Given the description of an element on the screen output the (x, y) to click on. 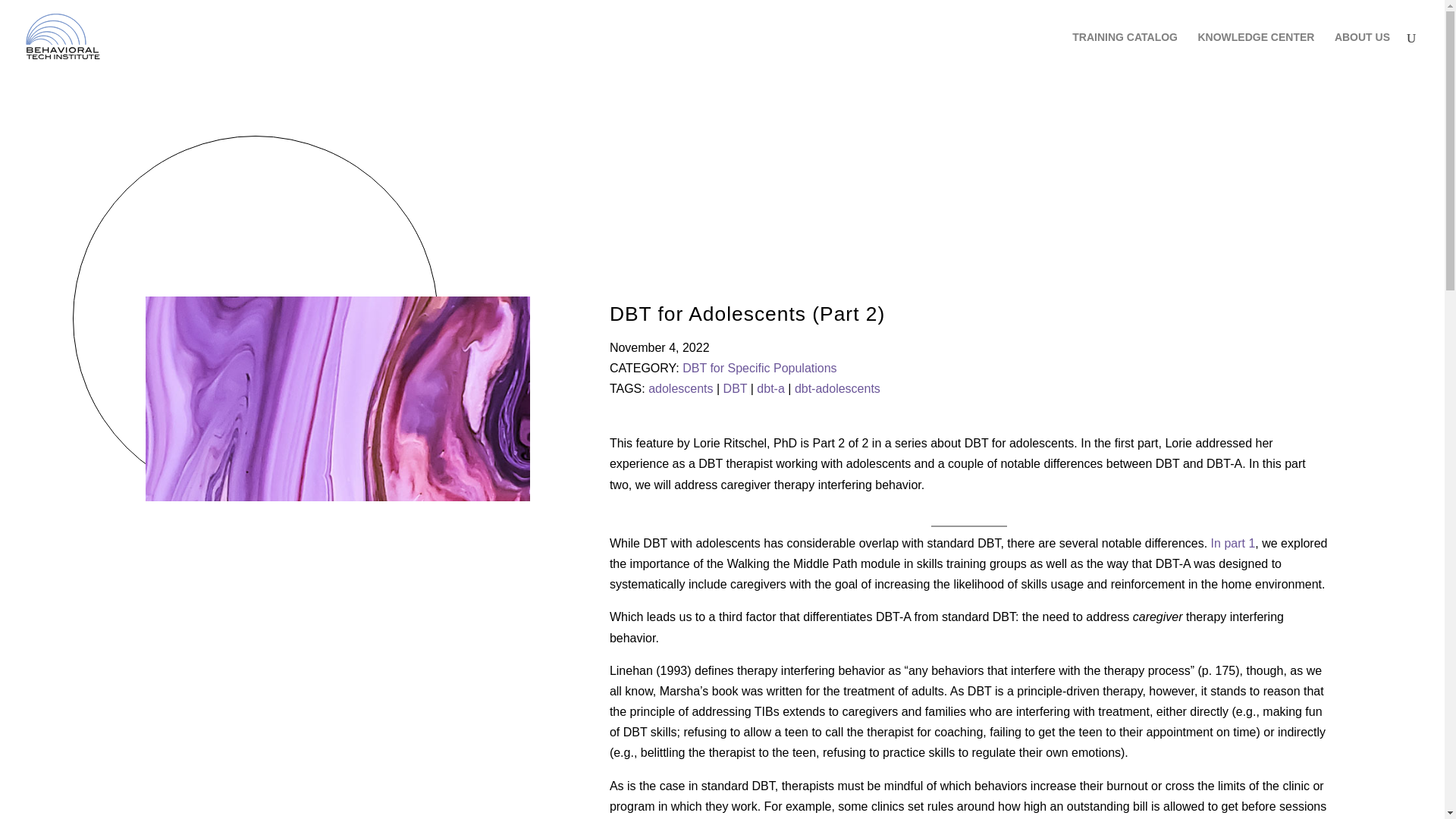
KNOWLEDGE CENTER (1255, 52)
dbt-adolescents (837, 388)
dbt-a (770, 388)
DBT (735, 388)
DBT for Specific Populations (758, 367)
adolescents (680, 388)
ABOUT US (1362, 52)
In part 1 (1233, 543)
DBTAdolescentsPart2 (337, 398)
TRAINING CATALOG (1124, 52)
